Given the description of an element on the screen output the (x, y) to click on. 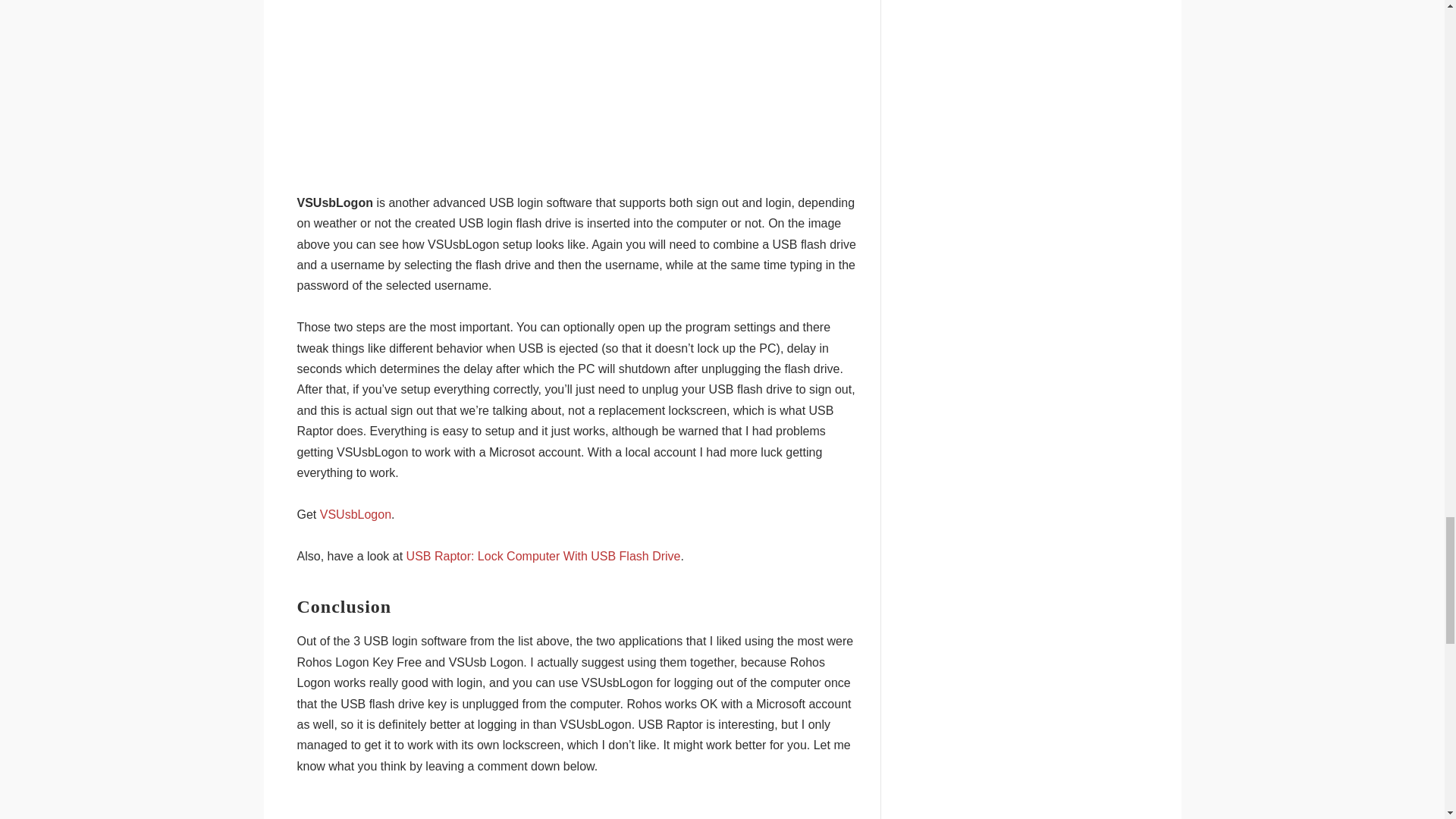
VSUsbLogon (355, 513)
Advertisement (577, 85)
USB Raptor: Lock Computer With USB Flash Drive (543, 555)
